Given the description of an element on the screen output the (x, y) to click on. 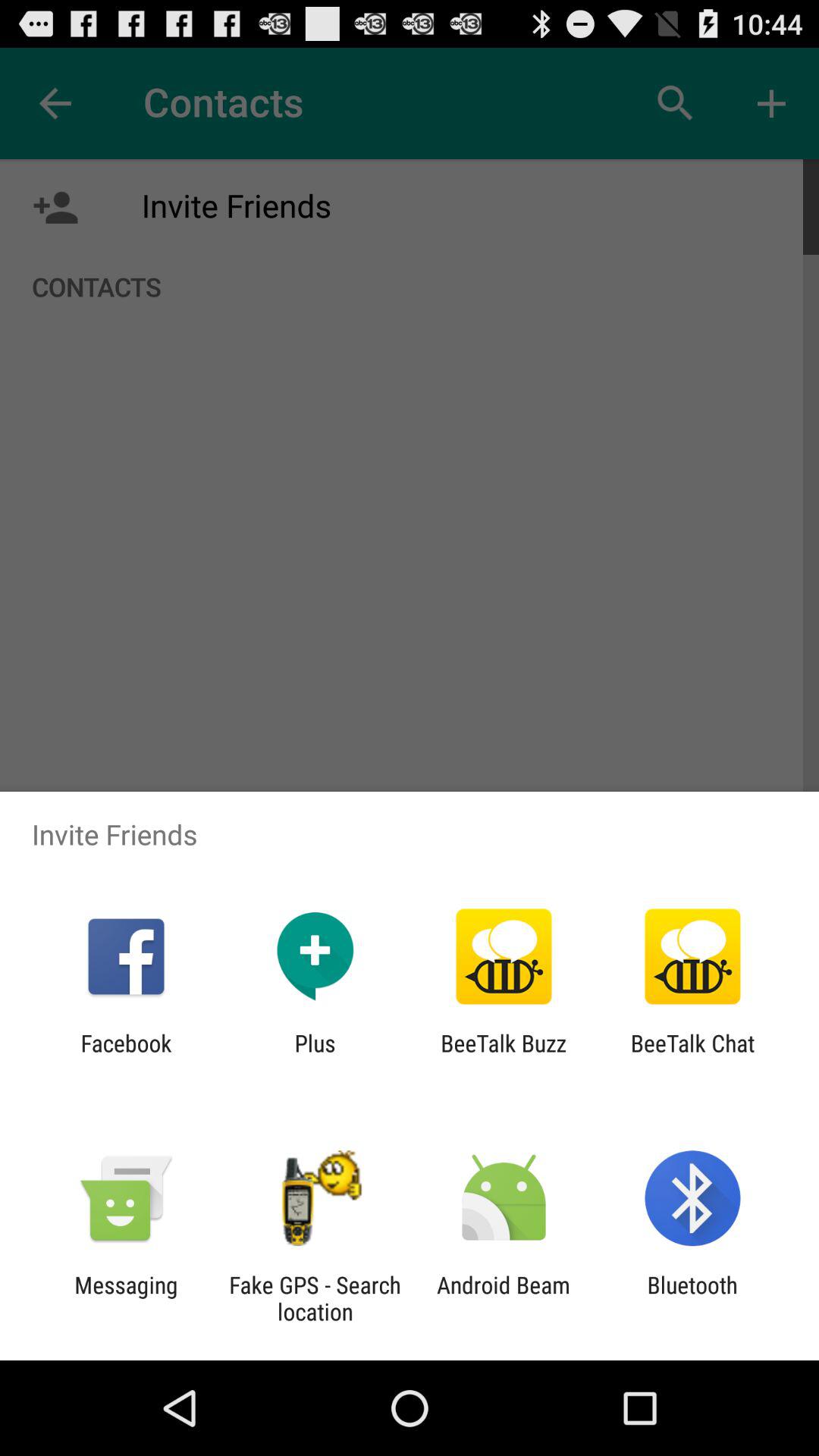
turn on icon to the left of the beetalk buzz icon (314, 1056)
